Given the description of an element on the screen output the (x, y) to click on. 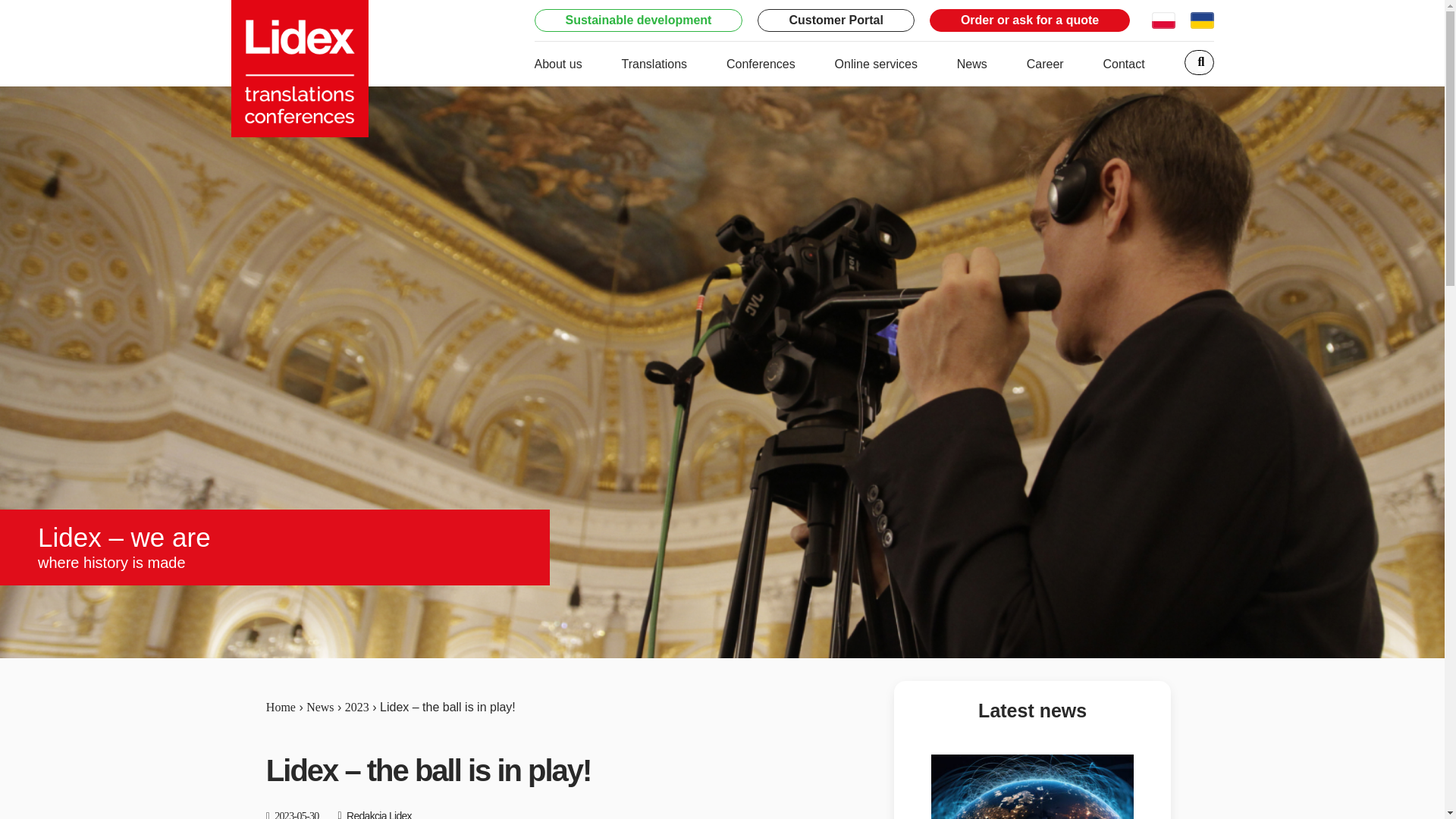
Order or ask for a quote (1029, 20)
News (319, 707)
Customer Portal (835, 20)
Career (1045, 64)
About us (557, 64)
Contact (1123, 64)
2023 (357, 707)
Conferences (760, 64)
Home (280, 707)
News (971, 64)
